Given the description of an element on the screen output the (x, y) to click on. 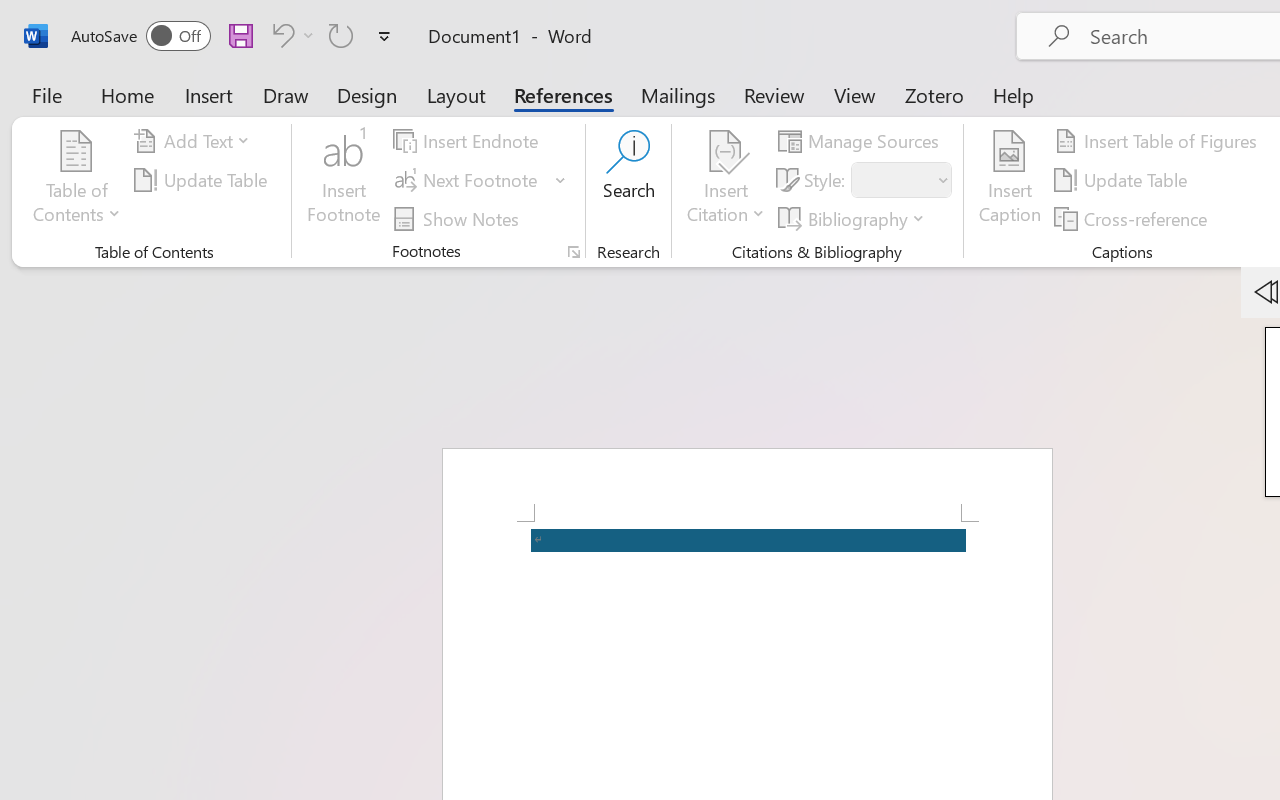
Style (901, 179)
Cross-reference... (1133, 218)
Insert Footnote (344, 179)
Add Text (195, 141)
Show Notes (459, 218)
Insert Table of Figures... (1158, 141)
Undo Apply Quick Style Set (290, 35)
Insert Endnote (468, 141)
Footnote and Endnote Dialog... (573, 252)
